Given the description of an element on the screen output the (x, y) to click on. 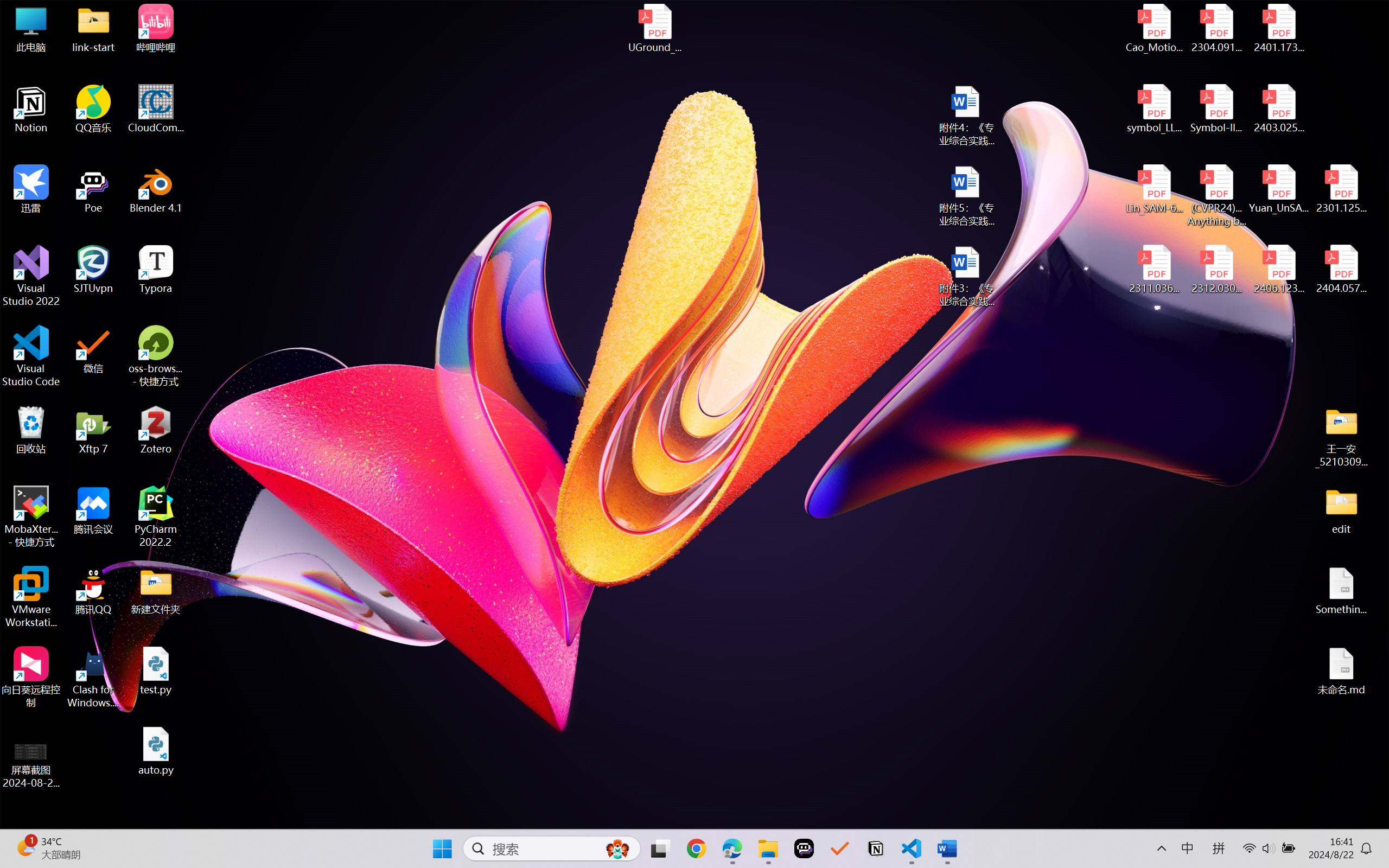
edit (1340, 510)
UGround_paper.pdf (654, 28)
2401.17399v1.pdf (1278, 28)
2311.03658v2.pdf (1154, 269)
